Given the description of an element on the screen output the (x, y) to click on. 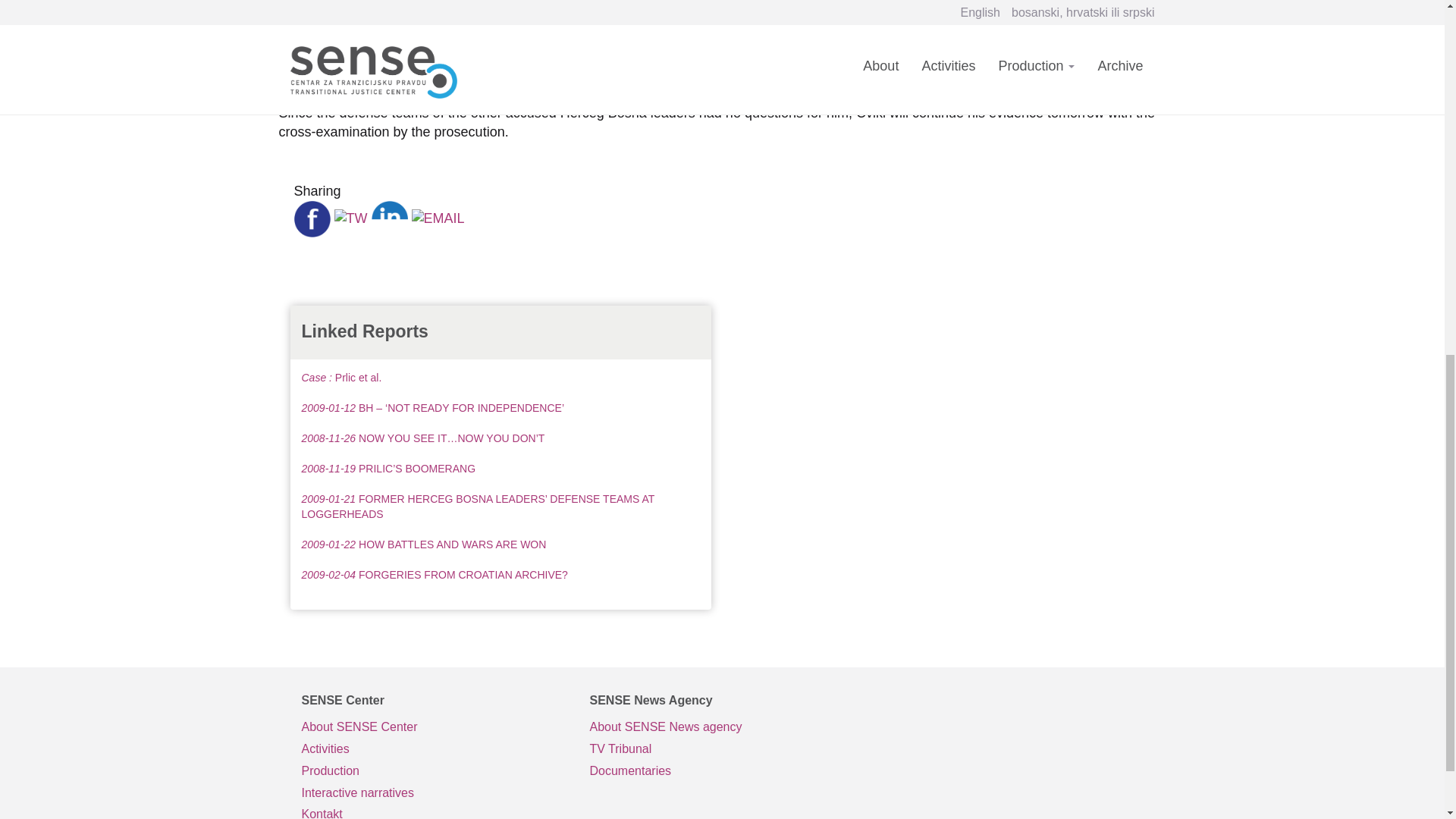
About SENSE News agency (721, 727)
Case : Prlic et al. (341, 377)
Interactive narratives (434, 793)
2009-02-04 FORGERIES FROM CROATIAN ARCHIVE? (434, 574)
TV Tribunal (721, 749)
Documentaries (721, 771)
Production (434, 771)
In Bosnian, Croatian or Serbian langauge (721, 749)
About SENSE Center (434, 727)
2009-01-22 HOW BATTLES AND WARS ARE WON (424, 544)
Activities (434, 749)
